Given the description of an element on the screen output the (x, y) to click on. 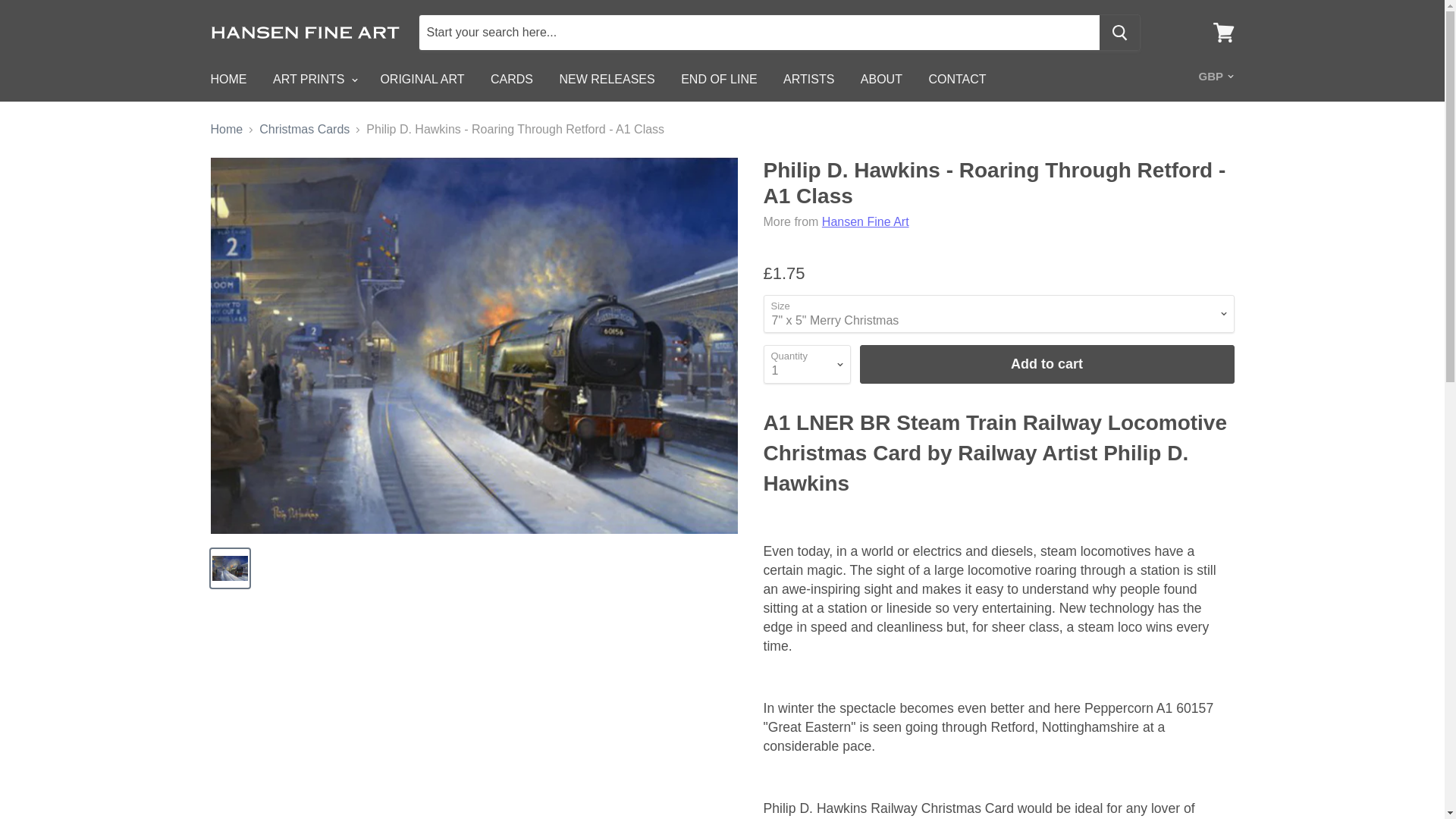
CONTACT (957, 79)
ABOUT (881, 79)
ORIGINAL ART (422, 79)
ARTISTS (808, 79)
HOME (227, 79)
Hansen Fine Art (865, 221)
NEW RELEASES (606, 79)
END OF LINE (718, 79)
CARDS (511, 79)
View cart (1223, 32)
ART PRINTS (313, 79)
